Given the description of an element on the screen output the (x, y) to click on. 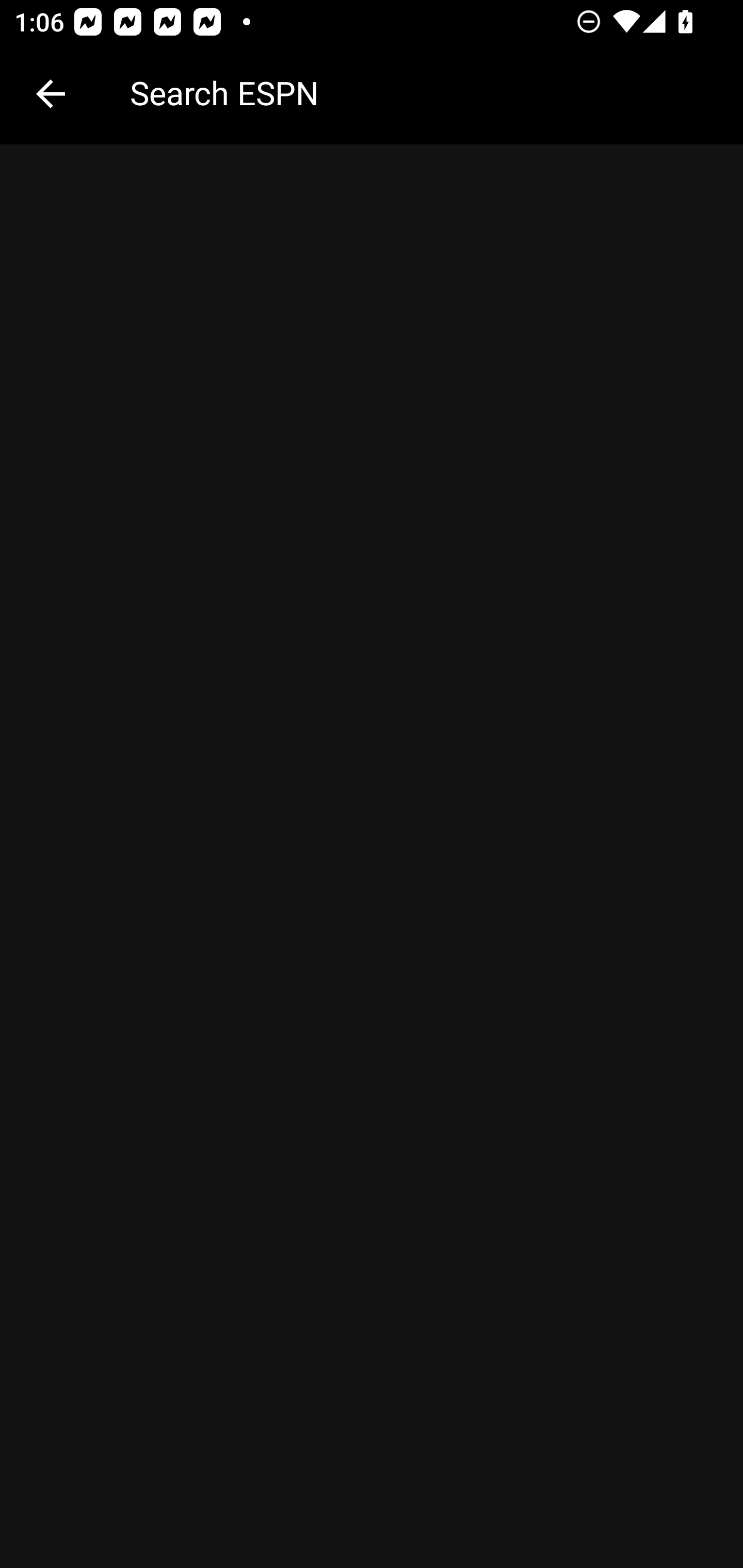
Collapse (50, 93)
Search ESPN (421, 92)
